Given the description of an element on the screen output the (x, y) to click on. 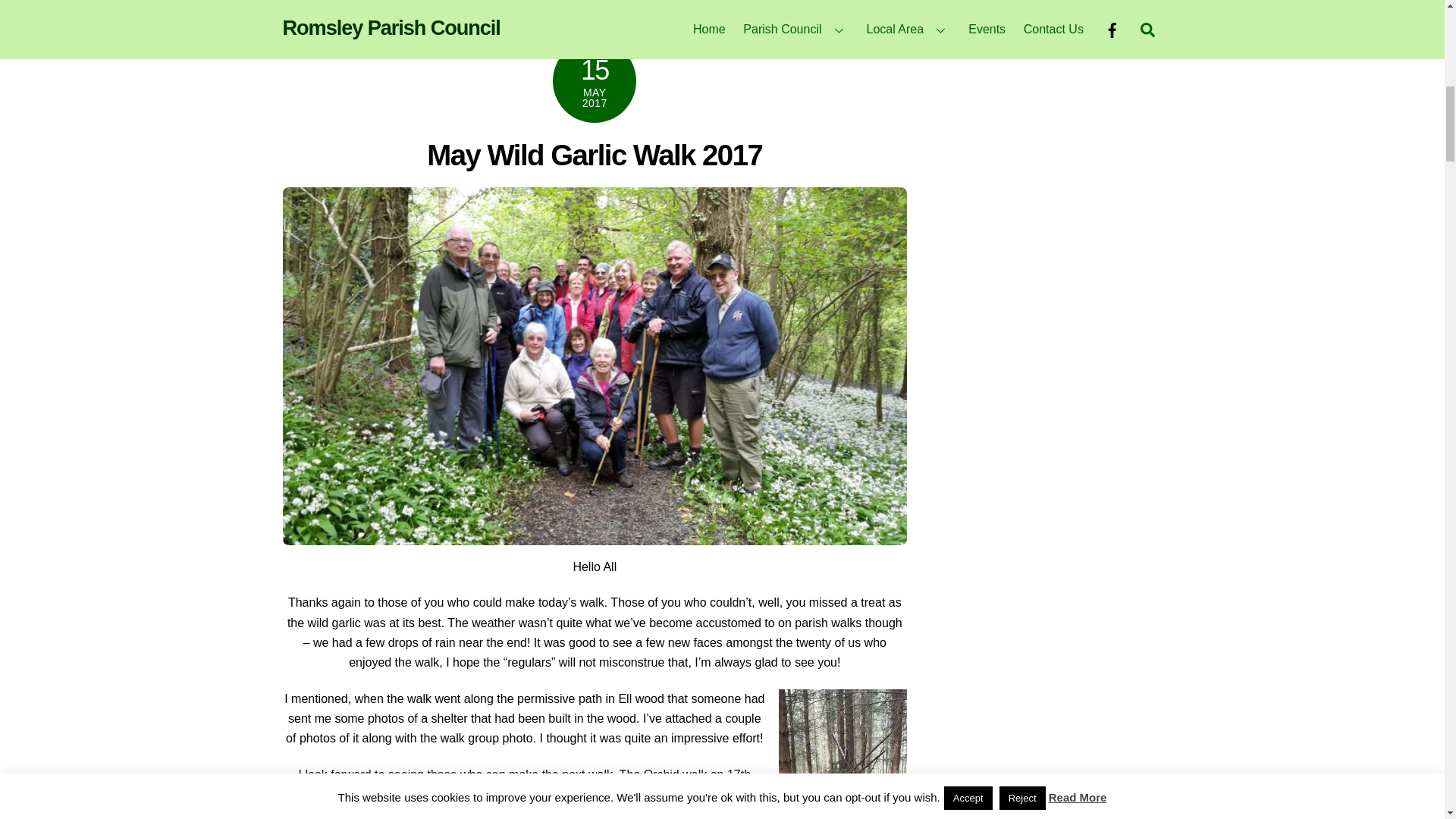
May Wild Garlic Walk 2017 (593, 154)
